Given the description of an element on the screen output the (x, y) to click on. 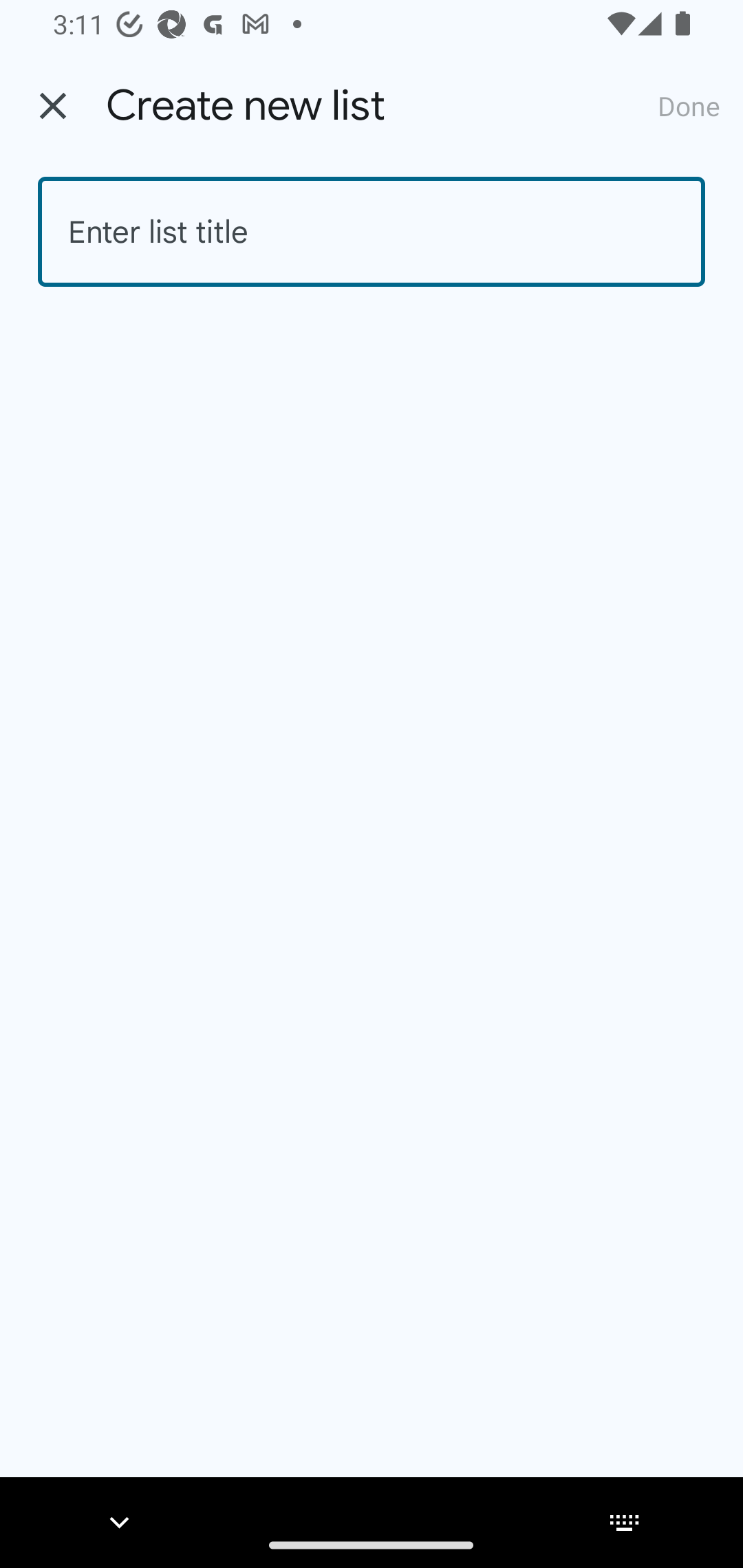
Back (53, 105)
Done (689, 105)
Enter list title (371, 231)
